Given the description of an element on the screen output the (x, y) to click on. 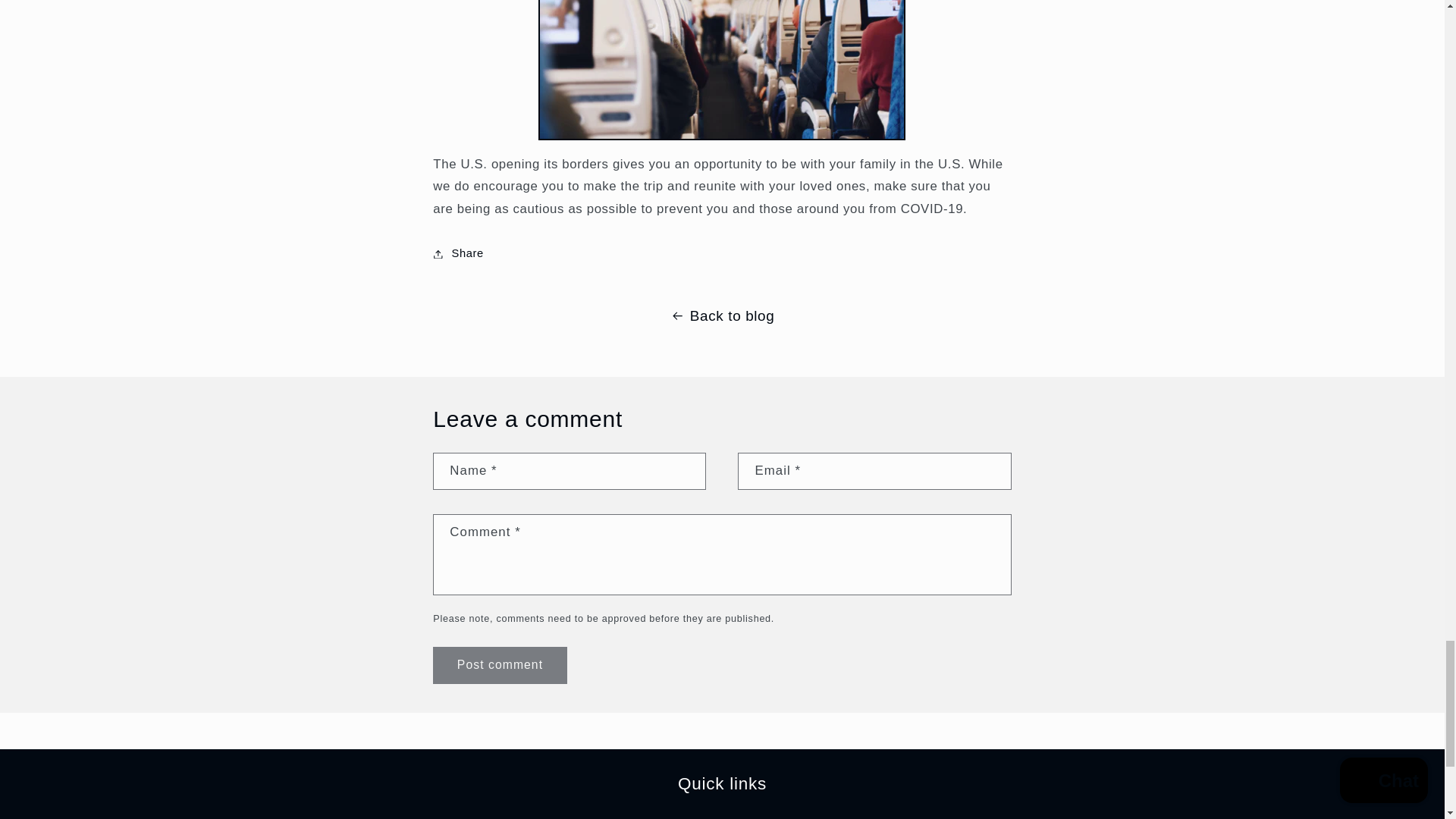
FAQs (455, 816)
Privacy policy (623, 814)
Post comment (499, 665)
Post comment (499, 665)
Shipping policy (528, 814)
